Given the description of an element on the screen output the (x, y) to click on. 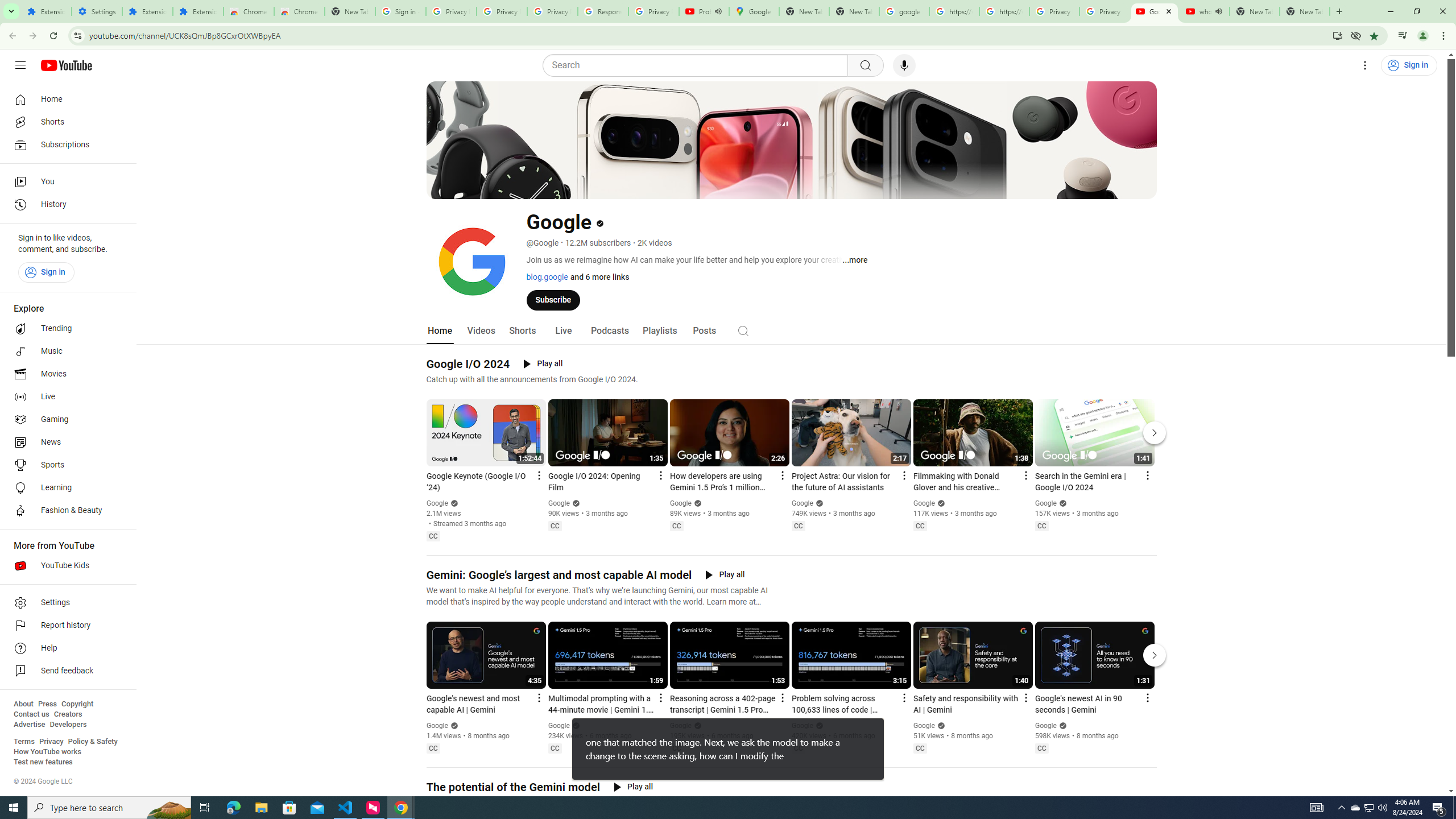
Next (1154, 654)
Send feedback (64, 671)
Google - YouTube (1154, 11)
and 6 more links (598, 276)
Gaming (64, 419)
Terms (23, 741)
Advertise (29, 724)
